Given the description of an element on the screen output the (x, y) to click on. 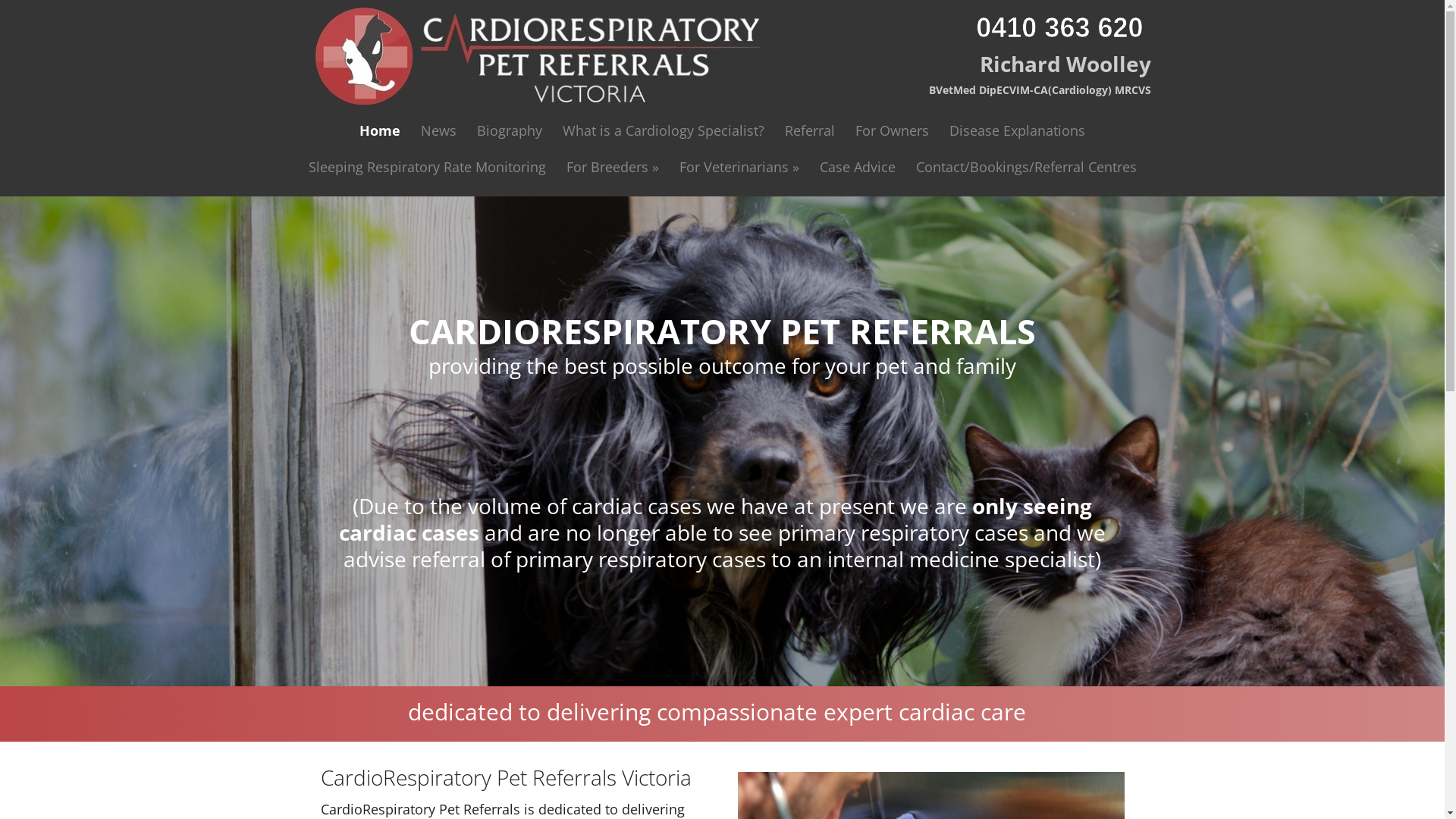
0410 363 620 Element type: text (1062, 27)
For Veterinarians Element type: text (738, 166)
For Breeders Element type: text (612, 166)
Disease Explanations Element type: text (1017, 130)
For Owners Element type: text (892, 130)
Sleeping Respiratory Rate Monitoring Element type: text (427, 166)
Case Advice Element type: text (857, 166)
Referral Element type: text (809, 130)
Contact/Bookings/Referral Centres Element type: text (1025, 166)
Biography Element type: text (509, 130)
News Element type: text (438, 130)
CardioRespiratory Pet Referrals Victoria Element type: text (528, 57)
Home Element type: text (379, 130)
What is a Cardiology Specialist? Element type: text (663, 130)
